Given the description of an element on the screen output the (x, y) to click on. 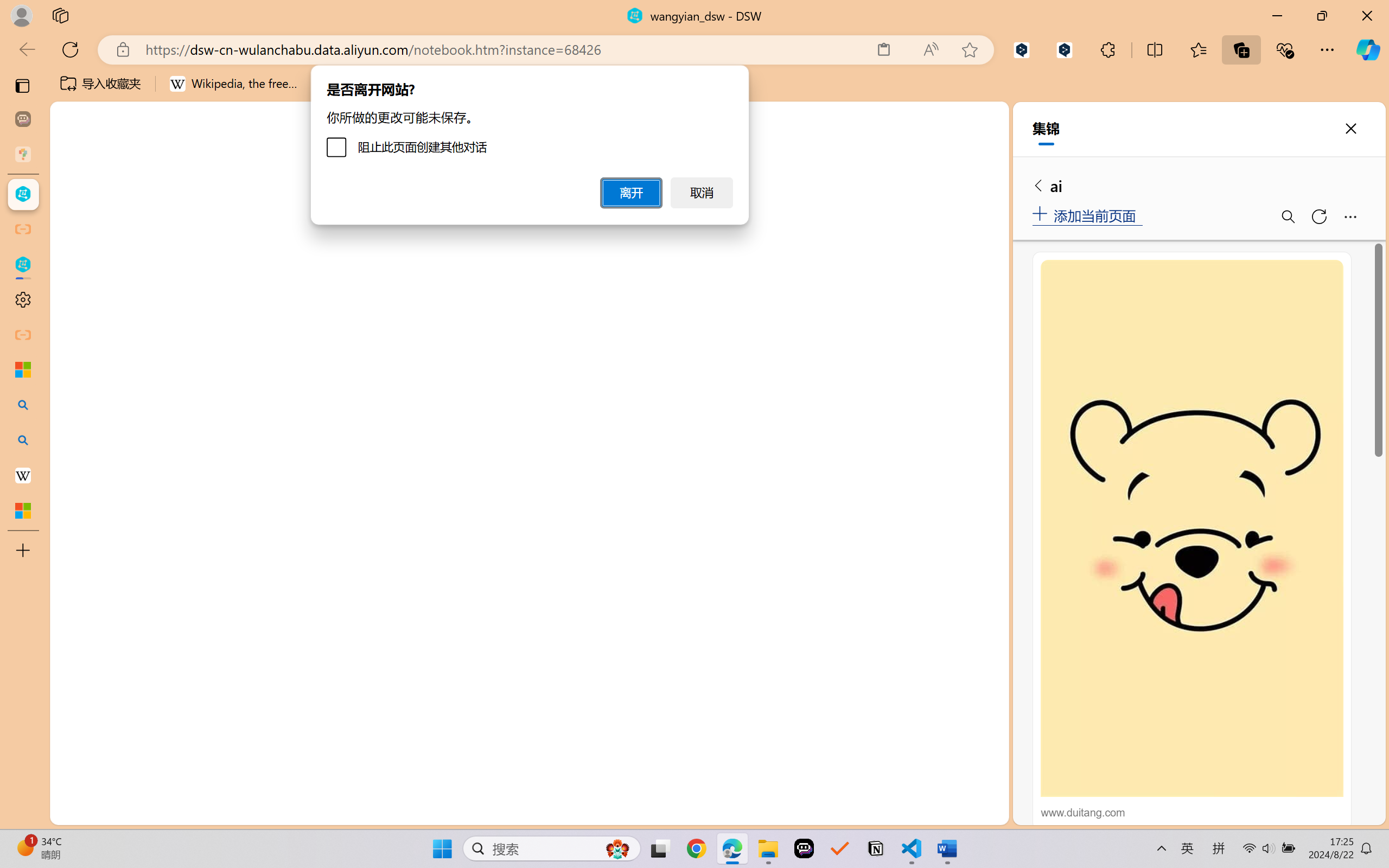
No Problems (115, 812)
Notifications (986, 812)
Outline Section (179, 769)
Launch Profile... (911, 193)
Search (Ctrl+Shift+F) (73, 281)
